Given the description of an element on the screen output the (x, y) to click on. 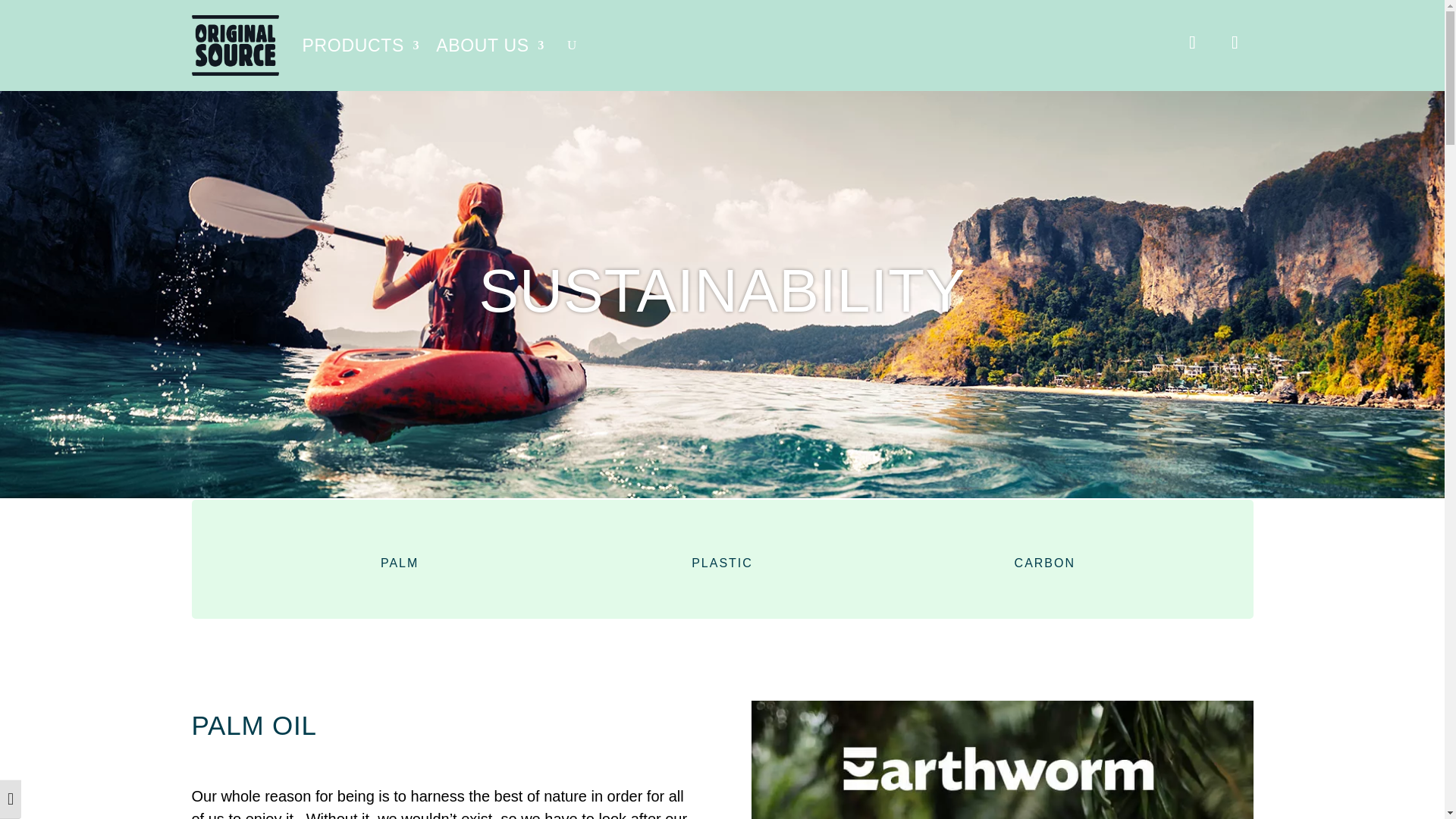
Instagram (1191, 42)
PLASTIC (721, 562)
CARBON (1044, 562)
Facebook (1233, 42)
PRODUCTS (360, 45)
ABOUT US (489, 45)
PALM (399, 562)
